Given the description of an element on the screen output the (x, y) to click on. 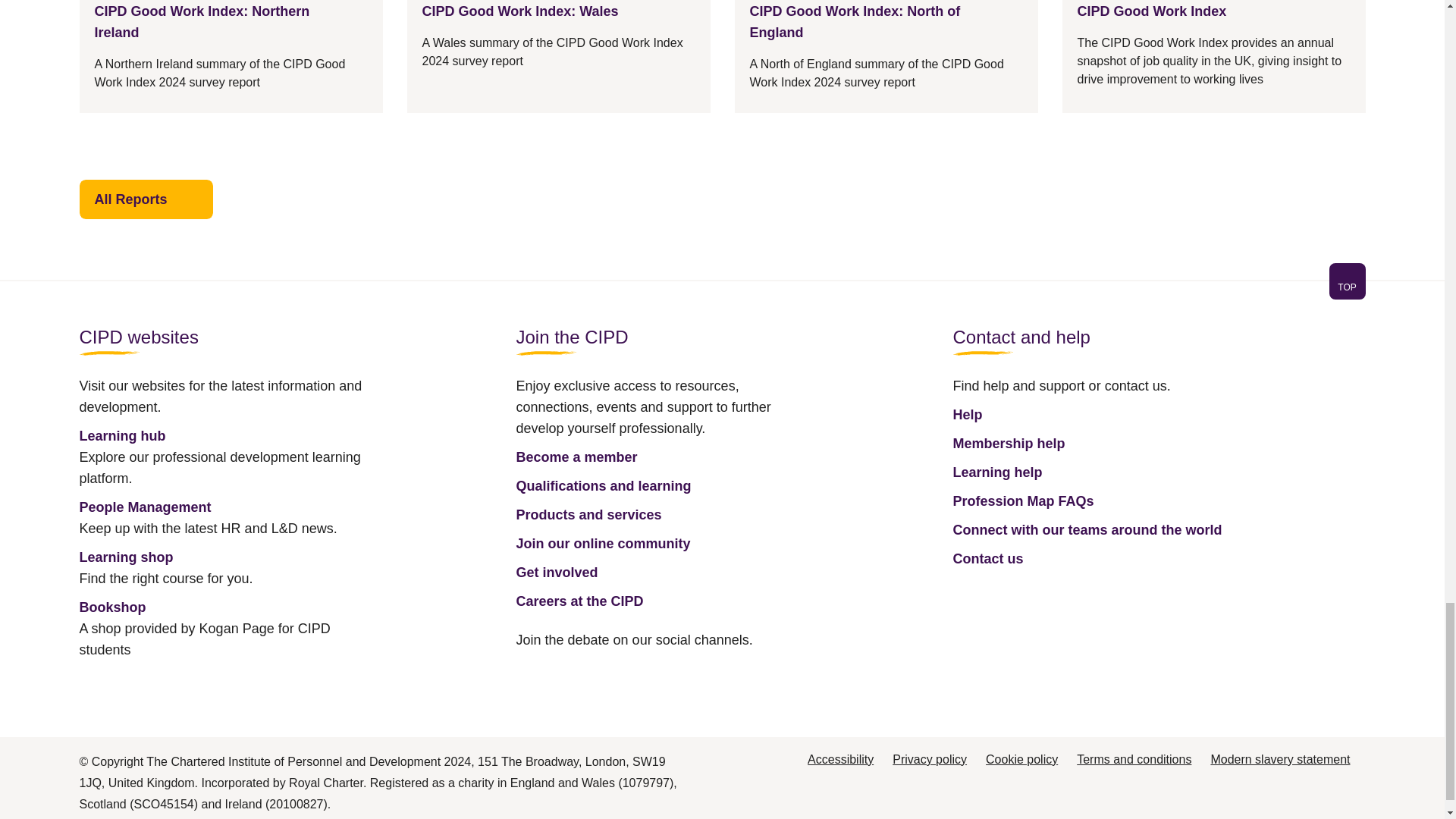
TOP (721, 290)
TOP (1346, 280)
TOP (1346, 287)
